Given the description of an element on the screen output the (x, y) to click on. 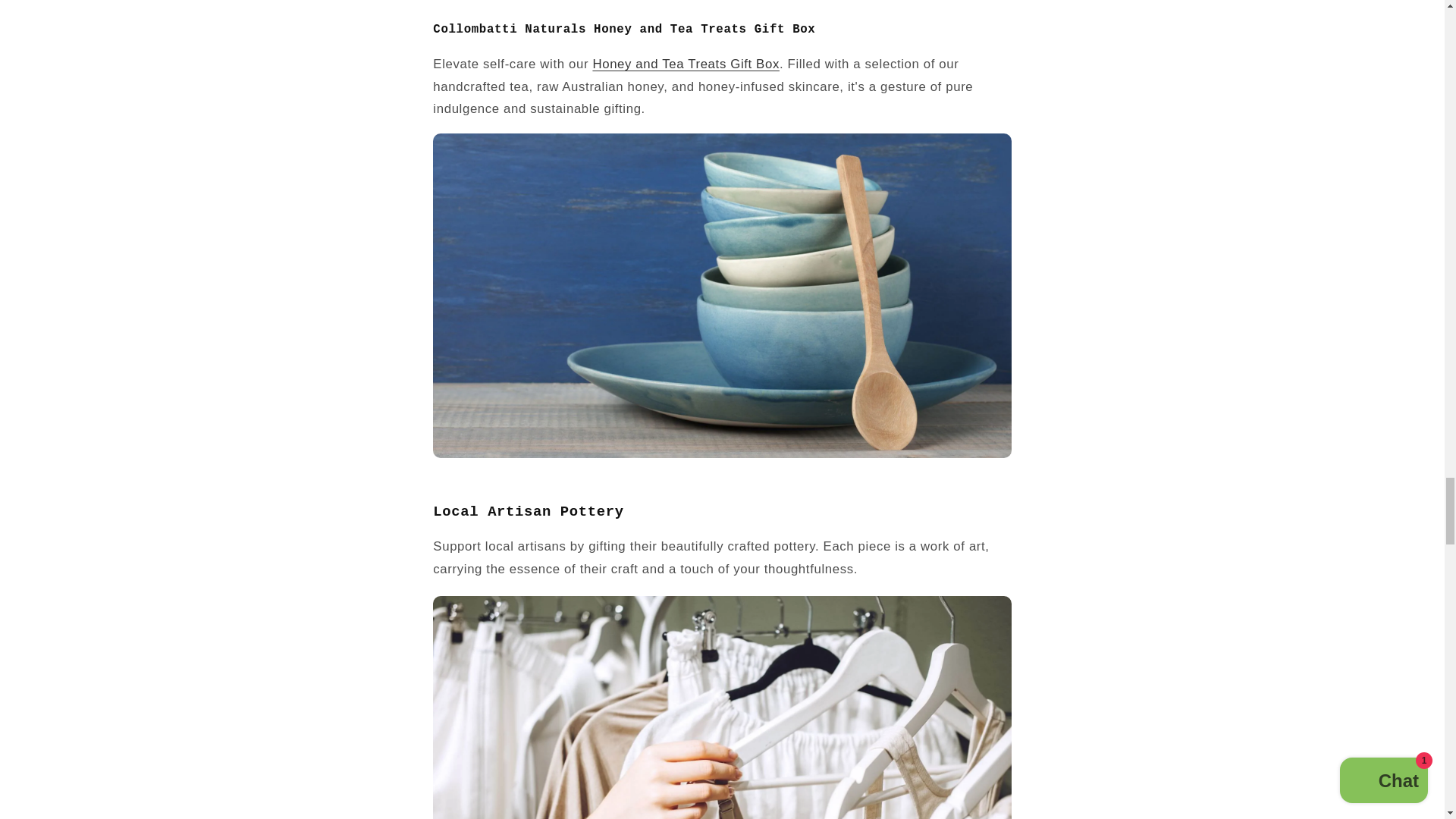
Collombatti Naturals Honey and Tea Treats Gift Box (685, 63)
